Given the description of an element on the screen output the (x, y) to click on. 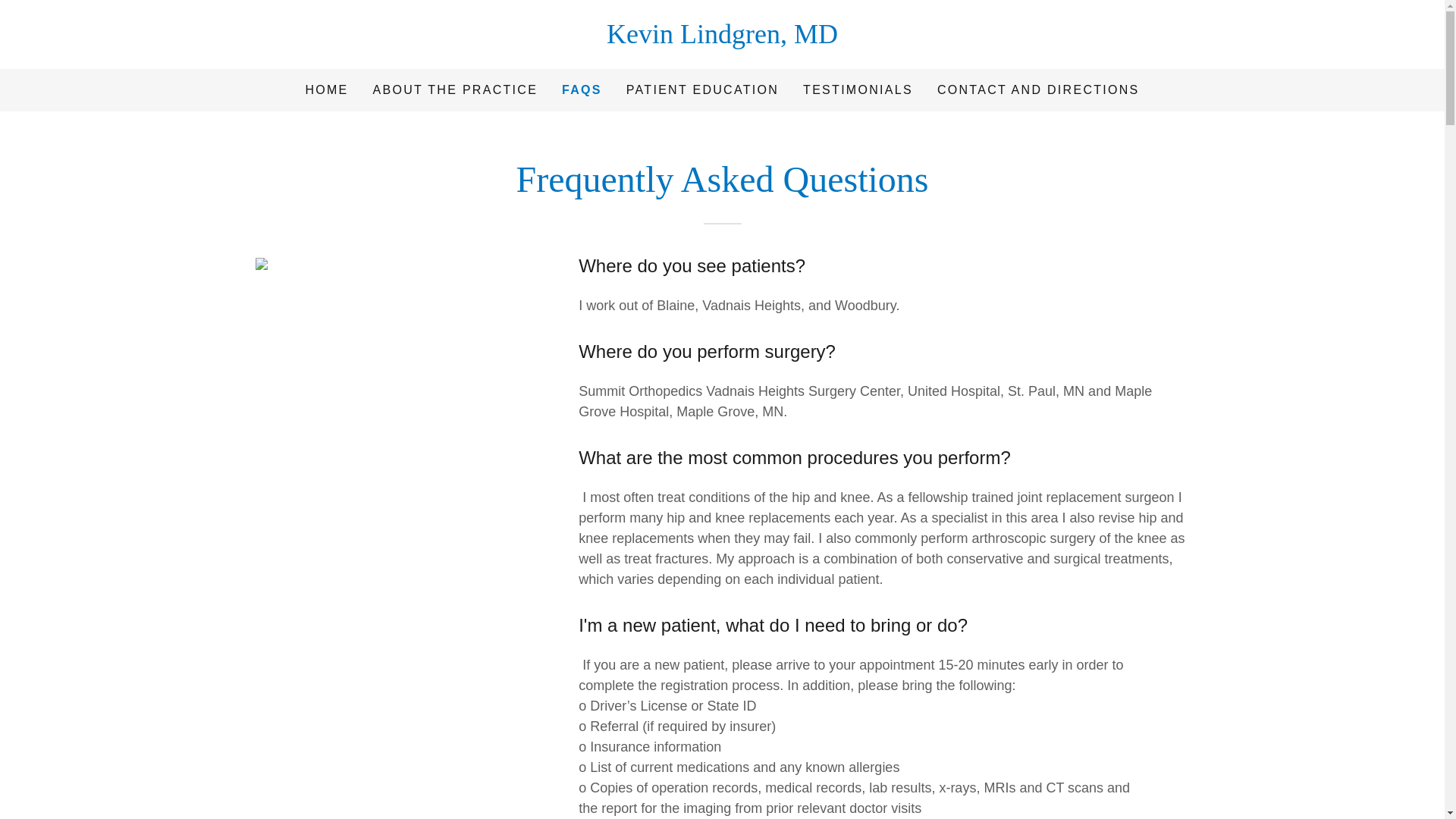
TESTIMONIALS (857, 90)
Kevin Lindgren, MD (721, 38)
CONTACT AND DIRECTIONS (1038, 90)
FAQS (582, 90)
HOME (325, 90)
PATIENT EDUCATION (702, 90)
ABOUT THE PRACTICE (455, 90)
Kevin Lindgren, MD (721, 38)
